Given the description of an element on the screen output the (x, y) to click on. 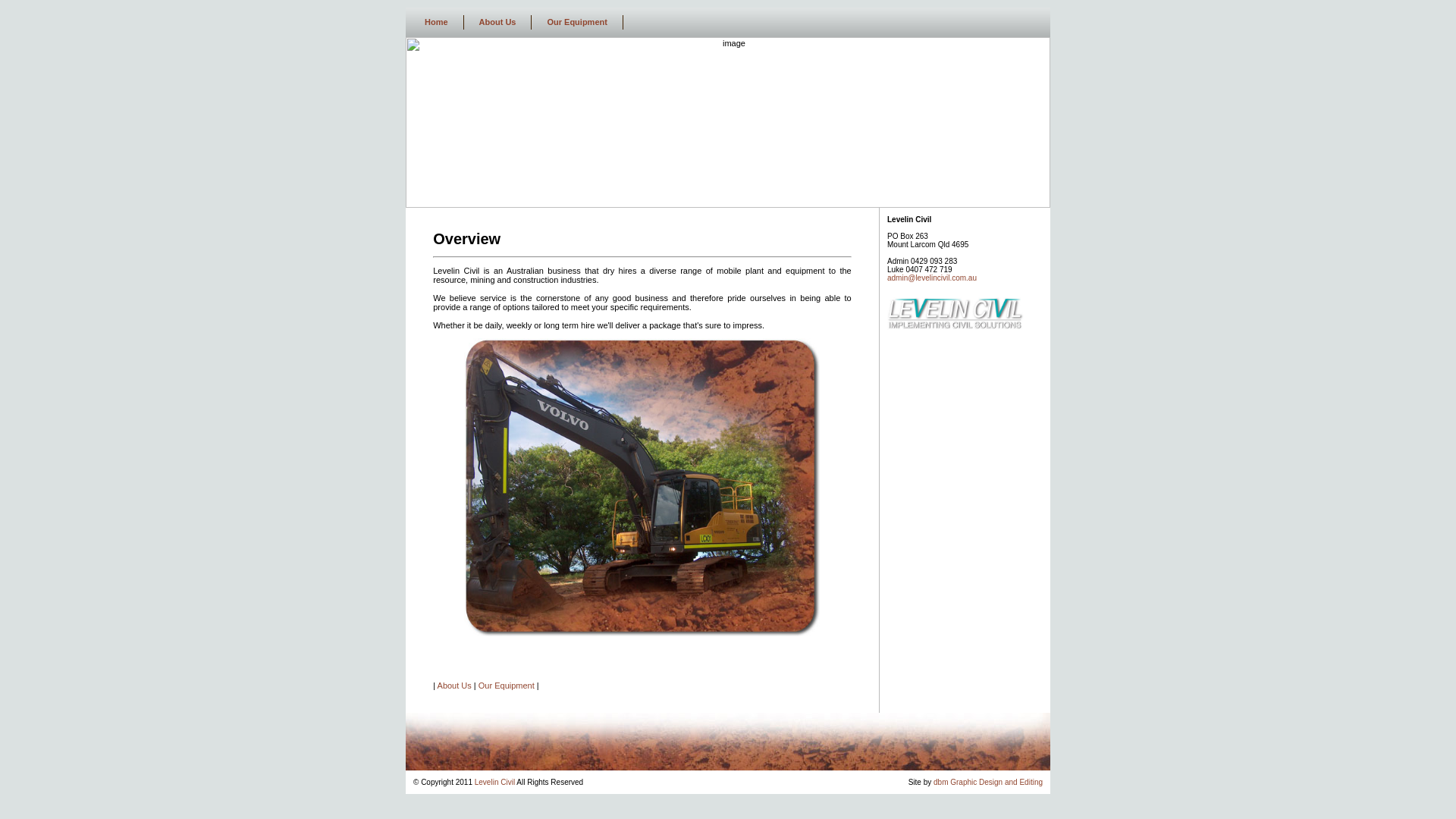
dbm Graphic Design and Editing Element type: text (986, 782)
About Us Element type: text (498, 22)
admin@levelincivil.com.au Element type: text (931, 277)
Levelin Civil Element type: text (494, 782)
Our Equipment Element type: text (506, 685)
Our Equipment Element type: text (576, 22)
About Us Element type: text (454, 685)
Home Element type: text (436, 22)
